Given the description of an element on the screen output the (x, y) to click on. 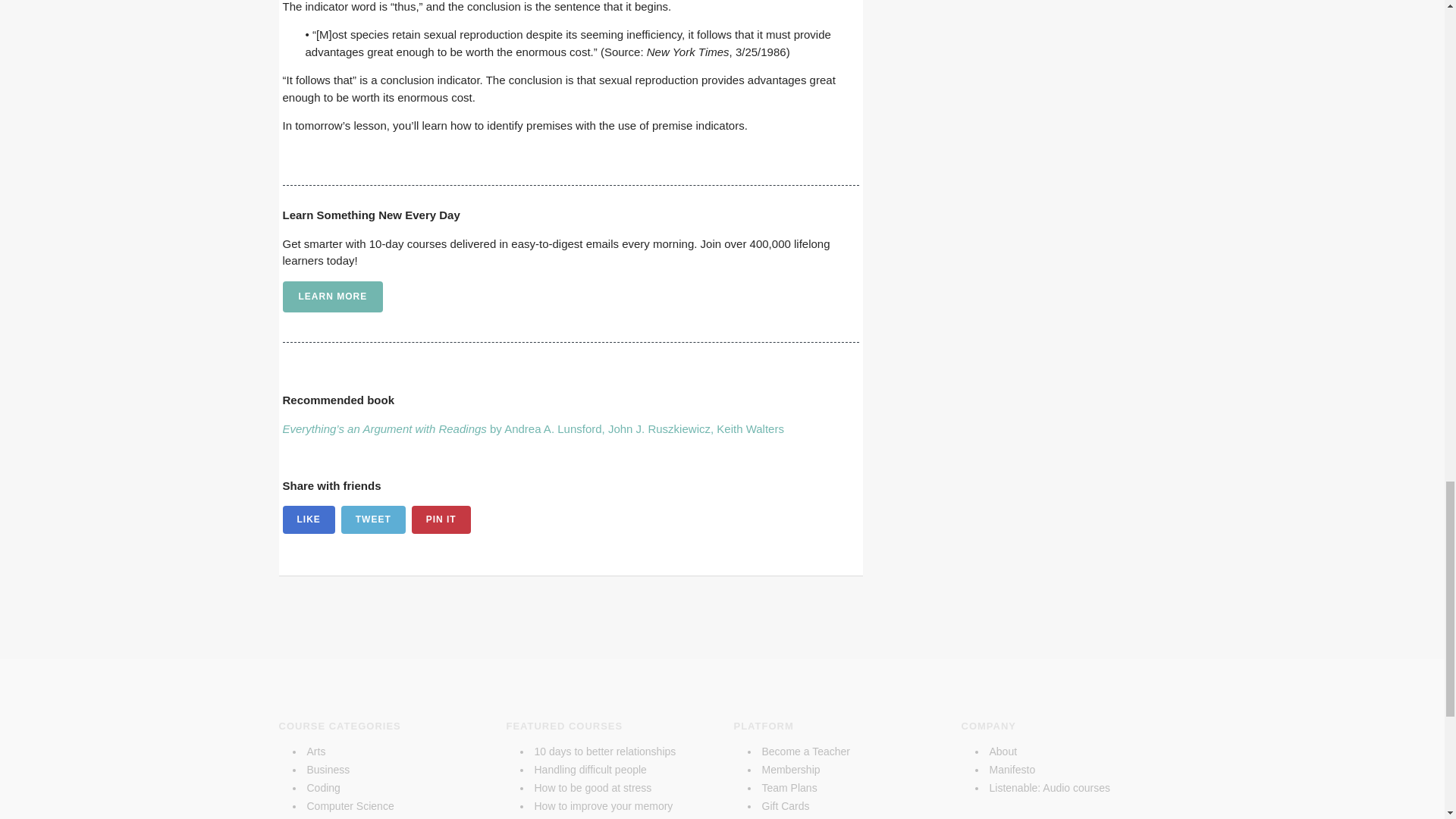
Coding (322, 787)
Computer Science (349, 806)
PIN IT (441, 519)
Arts (314, 751)
Business (327, 769)
LEARN MORE (332, 296)
TWEET (373, 519)
LIKE (308, 519)
